Given the description of an element on the screen output the (x, y) to click on. 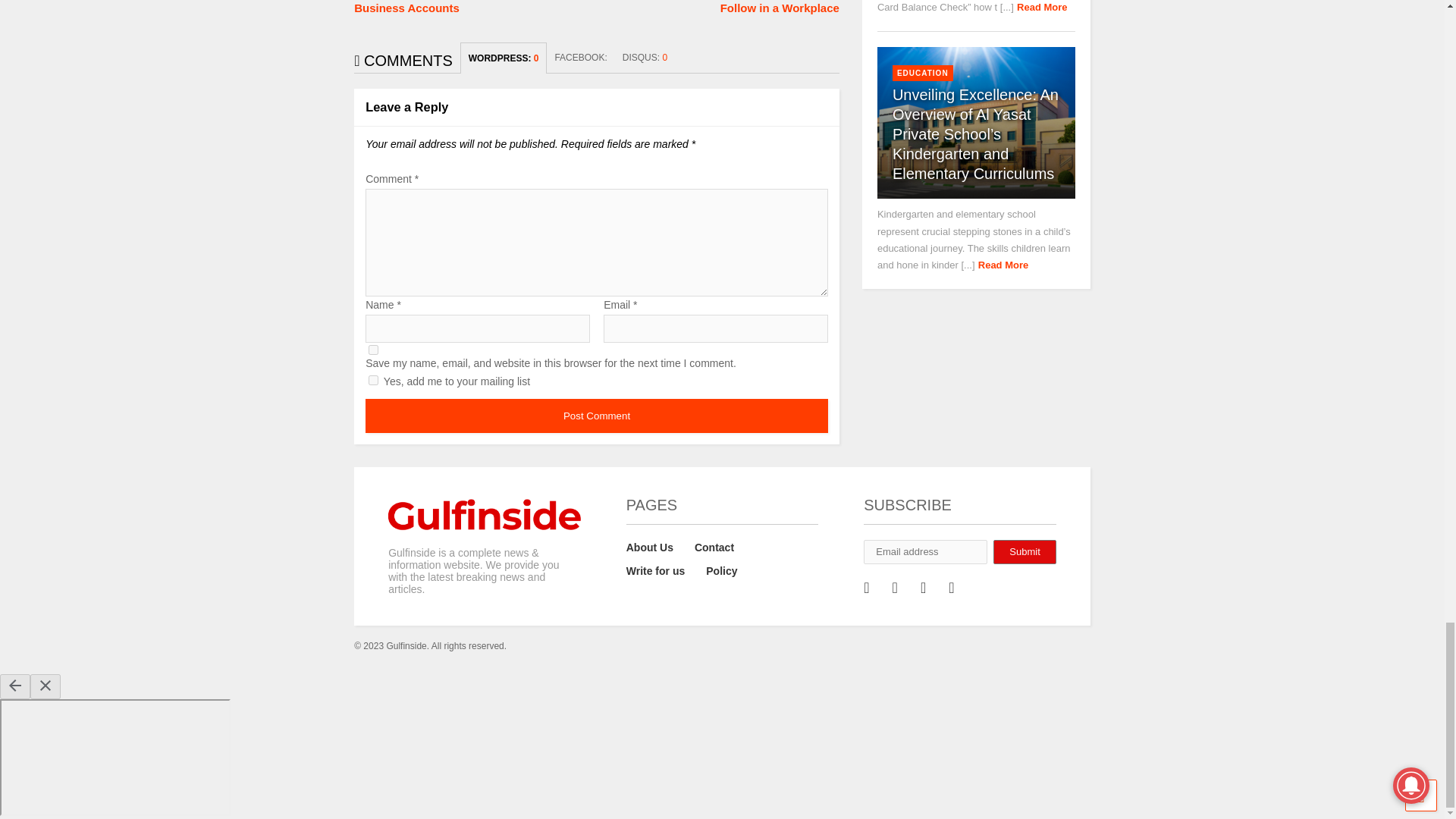
yes (373, 349)
Submit (1023, 551)
1 (373, 379)
Post Comment (596, 415)
